Given the description of an element on the screen output the (x, y) to click on. 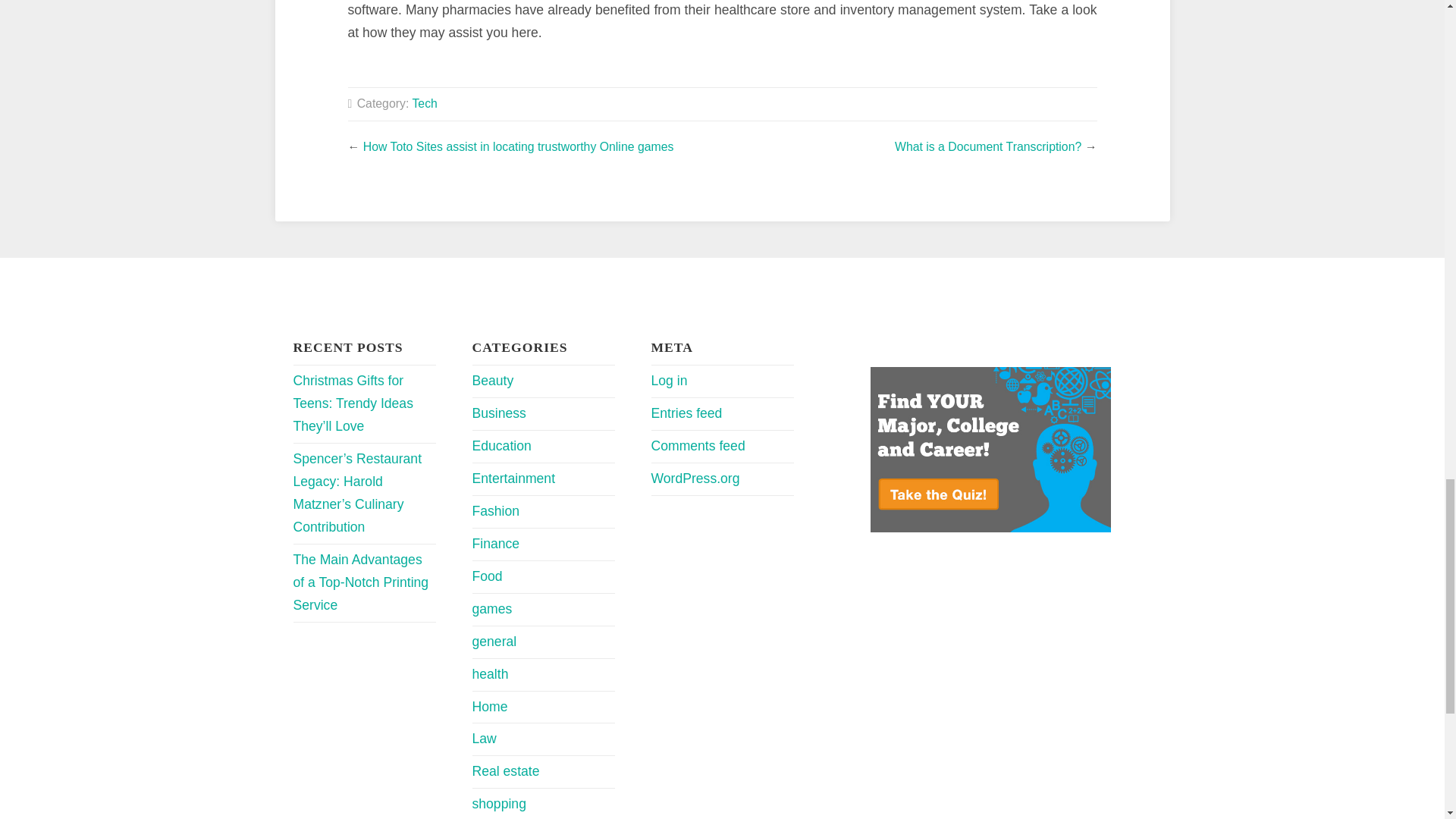
Business (498, 412)
Education (501, 445)
health (489, 673)
Food (486, 575)
games (491, 608)
Log in (668, 380)
shopping (498, 803)
What is a Document Transcription? (988, 146)
Comments feed (697, 445)
The Main Advantages of a Top-Notch Printing Service (360, 582)
WordPress.org (694, 478)
Home (488, 706)
Tech (424, 103)
Entries feed (686, 412)
How Toto Sites assist in locating trustworthy Online games (518, 146)
